Given the description of an element on the screen output the (x, y) to click on. 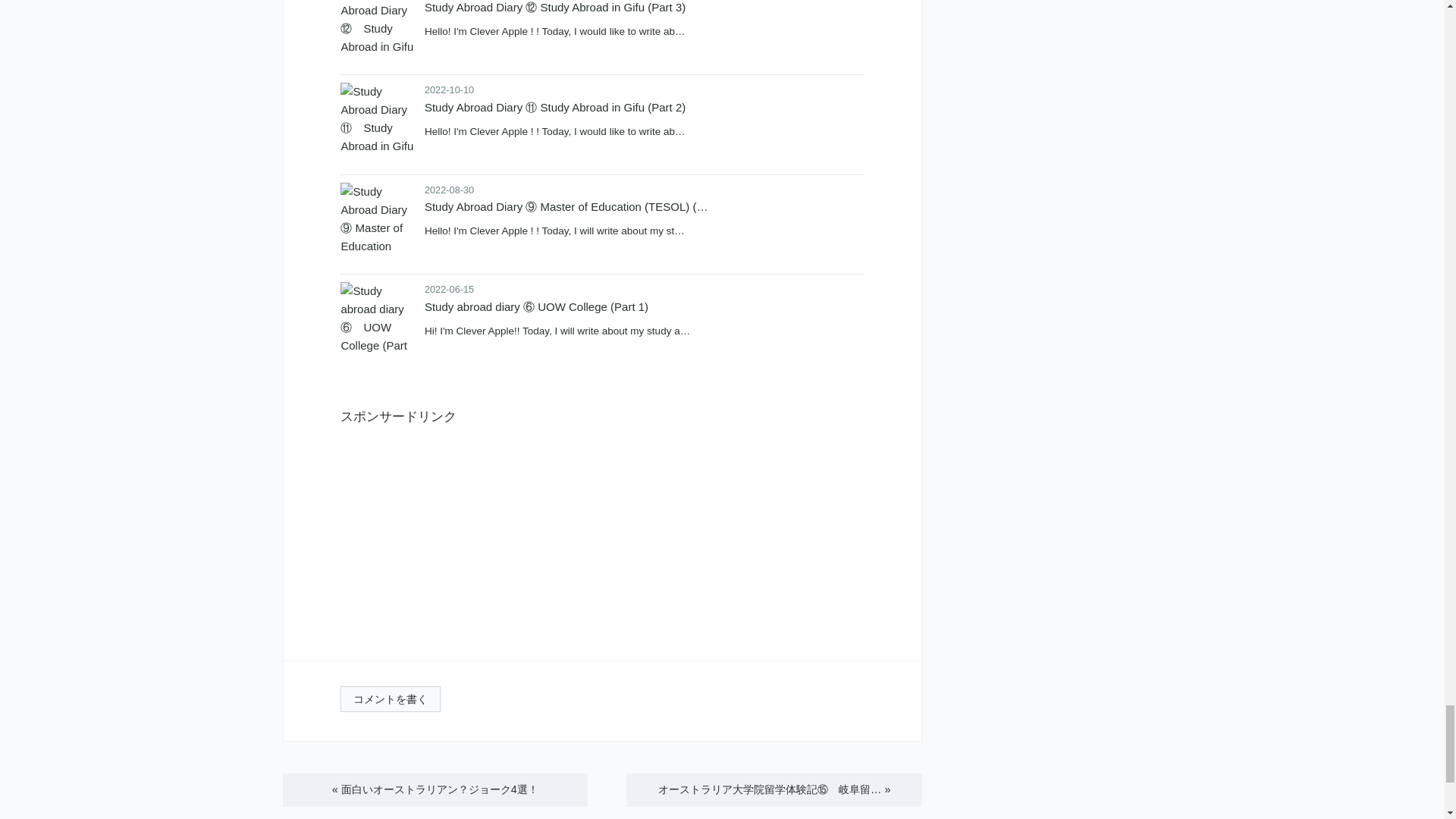
2022-08-30T02:41:30Z (449, 189)
2022-10-10T03:55:51Z (449, 89)
2022-06-15T02:04:12Z (449, 288)
